Given the description of an element on the screen output the (x, y) to click on. 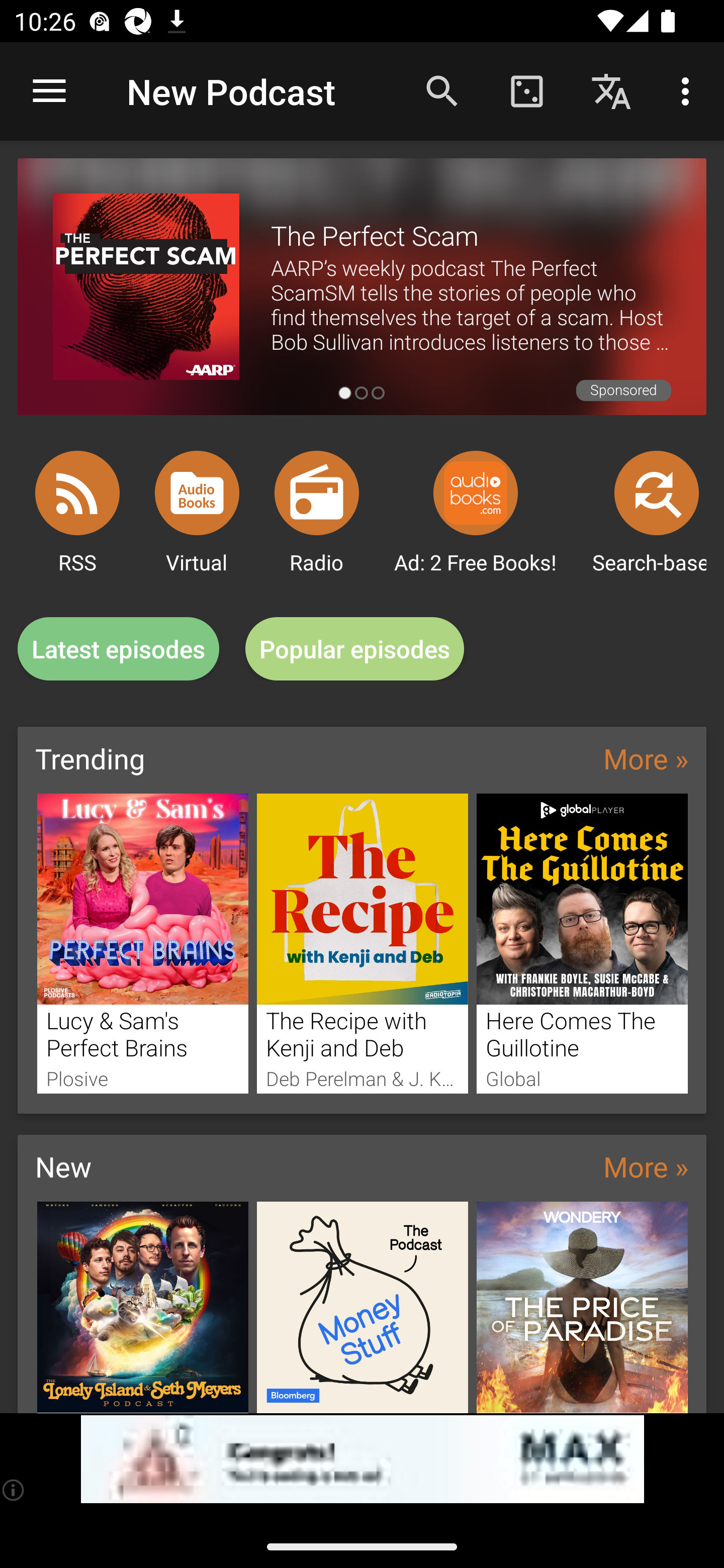
Open navigation sidebar (49, 91)
Search (442, 90)
Random pick (526, 90)
Podcast languages (611, 90)
More options (688, 90)
RSS (77, 492)
Virtual (196, 492)
Radio (316, 492)
Search-based (656, 492)
Latest episodes (118, 648)
Popular episodes (354, 648)
More » (645, 757)
Lucy & Sam's Perfect Brains Plosive (142, 942)
Here Comes The Guillotine Global (581, 942)
More » (645, 1166)
The Lonely Island and Seth Meyers Podcast (142, 1306)
Money Stuff: The Podcast (362, 1306)
The Price of Paradise (581, 1306)
app-monetization (362, 1459)
(i) (14, 1489)
